Given the description of an element on the screen output the (x, y) to click on. 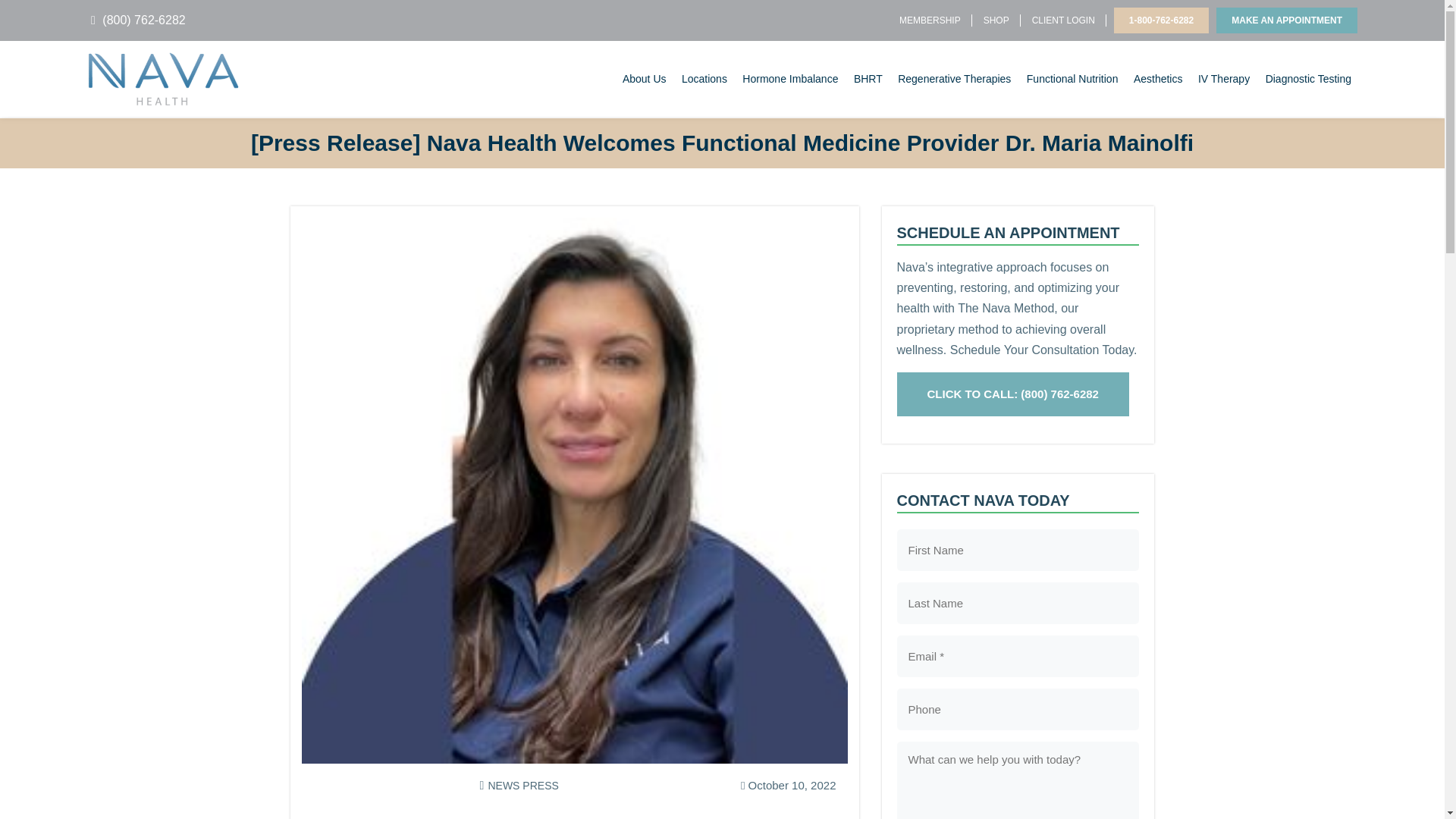
SHOP (996, 21)
1-800-762-6282 (1160, 20)
SHOP (996, 21)
MAKE AN APPOINTMENT (1285, 20)
MAKE AN APPOINTMENT (1285, 20)
Regenerative Therapies (953, 79)
MEMBERSHIP (930, 21)
CLIENT LOGIN (1063, 21)
About Us (643, 79)
MEMBERSHIP (930, 21)
